Given the description of an element on the screen output the (x, y) to click on. 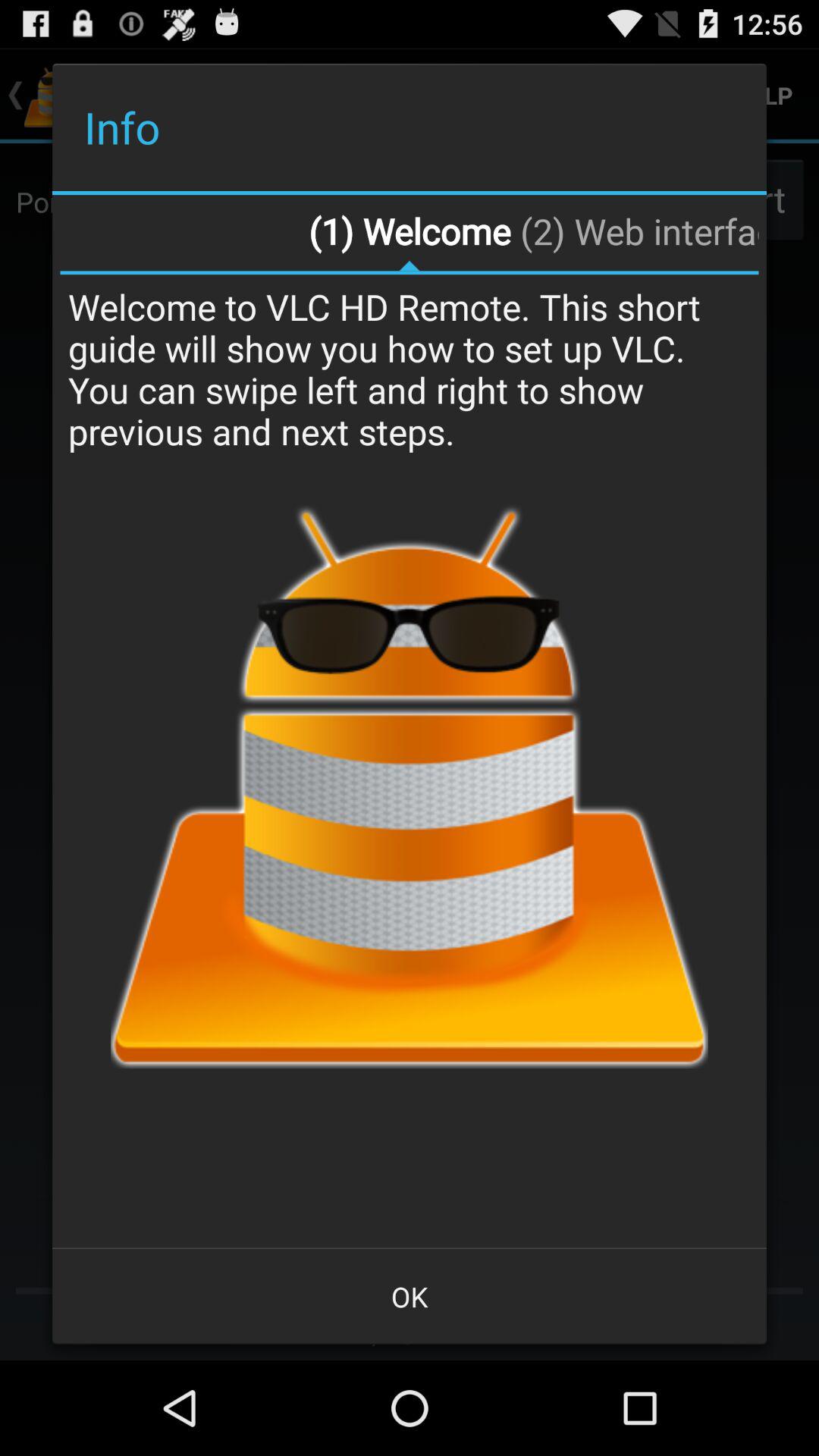
open the ok item (409, 1296)
